Given the description of an element on the screen output the (x, y) to click on. 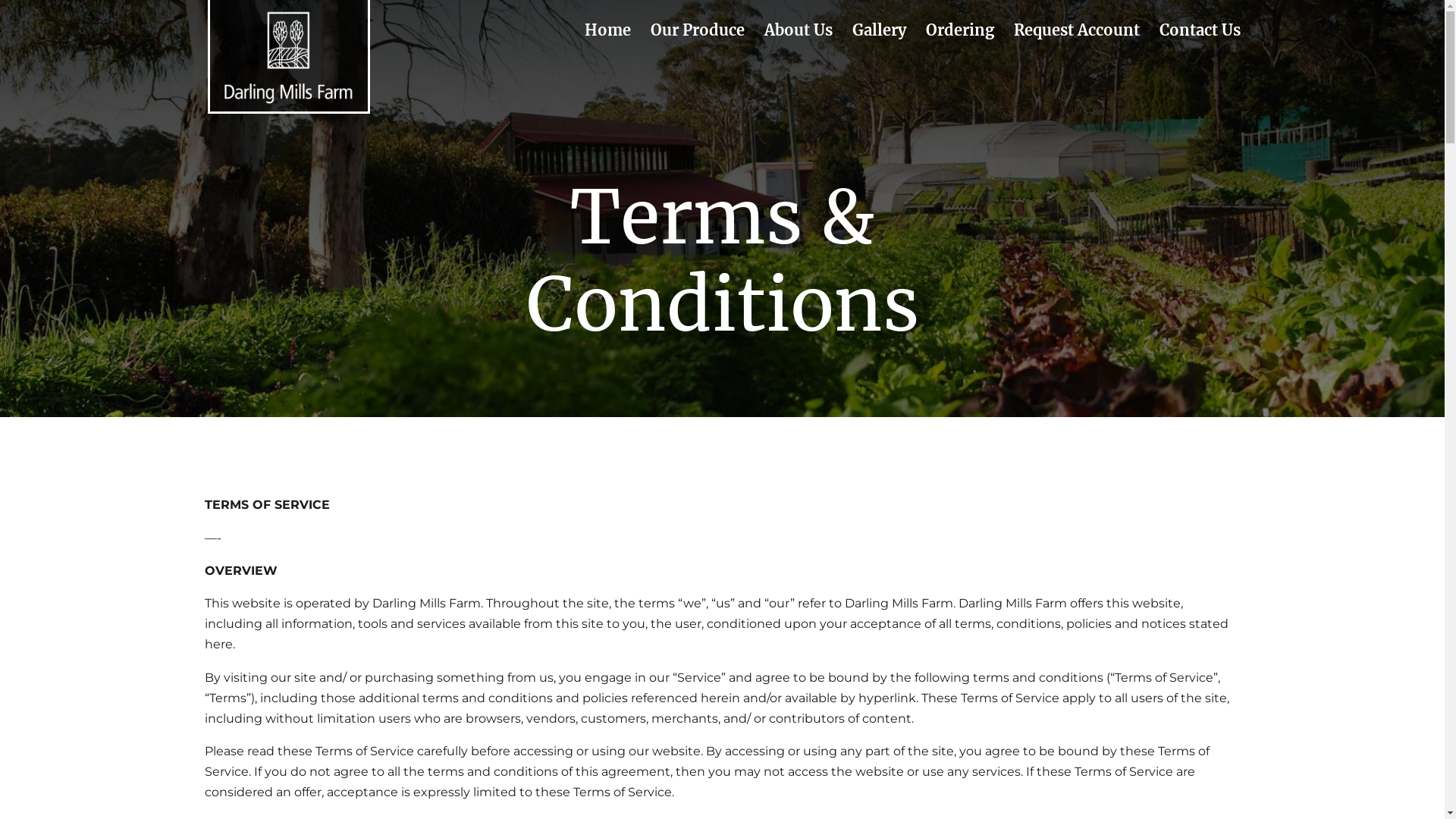
Request Account Element type: text (1076, 42)
About Us Element type: text (798, 42)
Ordering Element type: text (959, 42)
Contact Us Element type: text (1198, 42)
Home Element type: text (606, 42)
Our Produce Element type: text (697, 42)
Gallery Element type: text (879, 42)
